Given the description of an element on the screen output the (x, y) to click on. 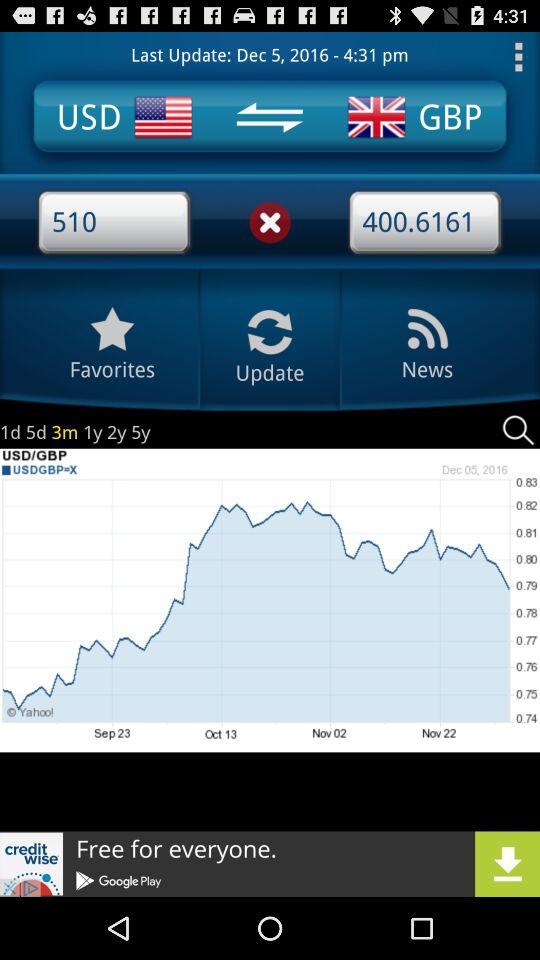
click advertisement (270, 864)
